Given the description of an element on the screen output the (x, y) to click on. 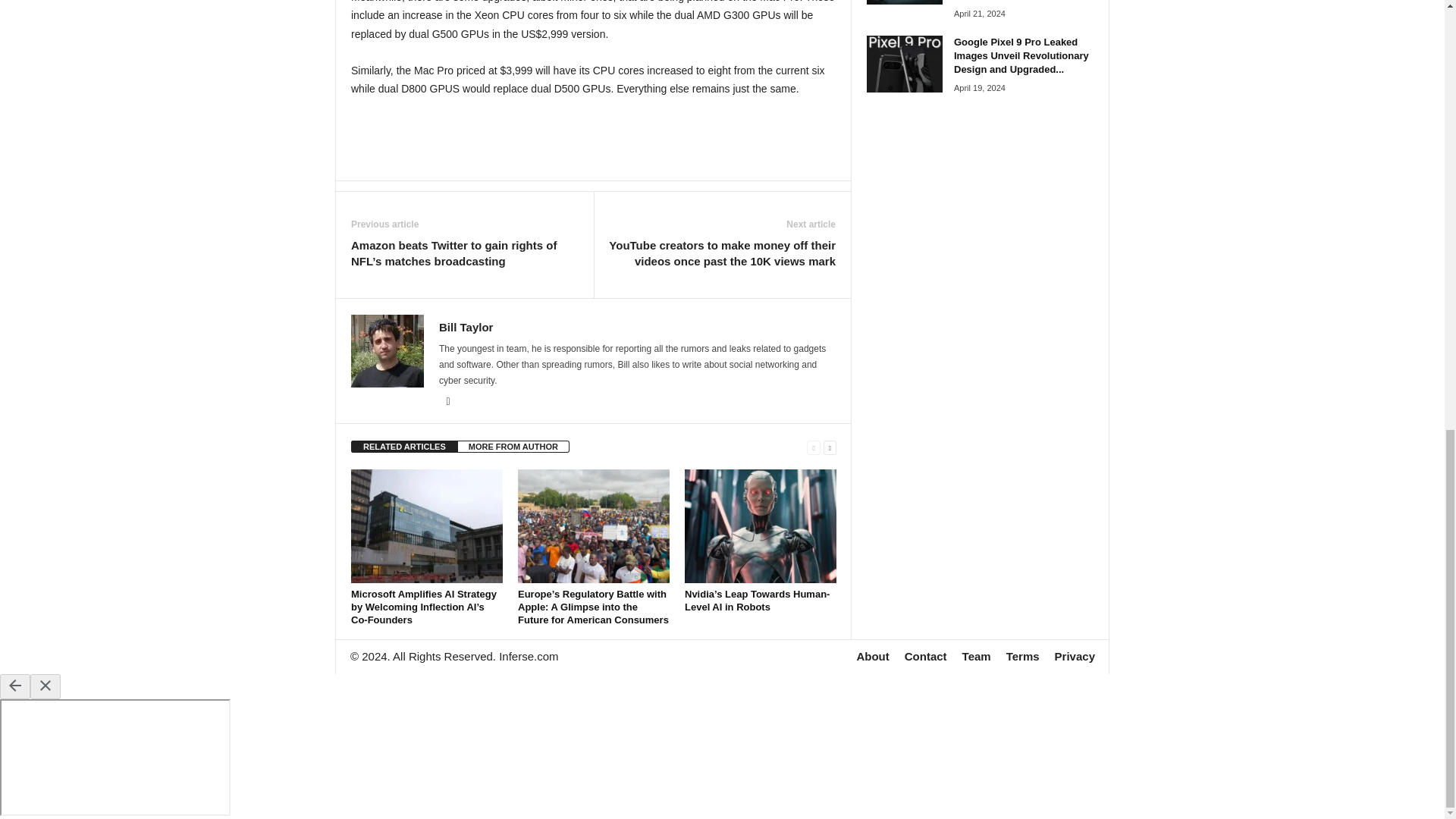
RELATED ARTICLES (404, 446)
Advertisement (593, 138)
MORE FROM AUTHOR (513, 446)
Bill Taylor (466, 327)
Twitter (448, 401)
